Given the description of an element on the screen output the (x, y) to click on. 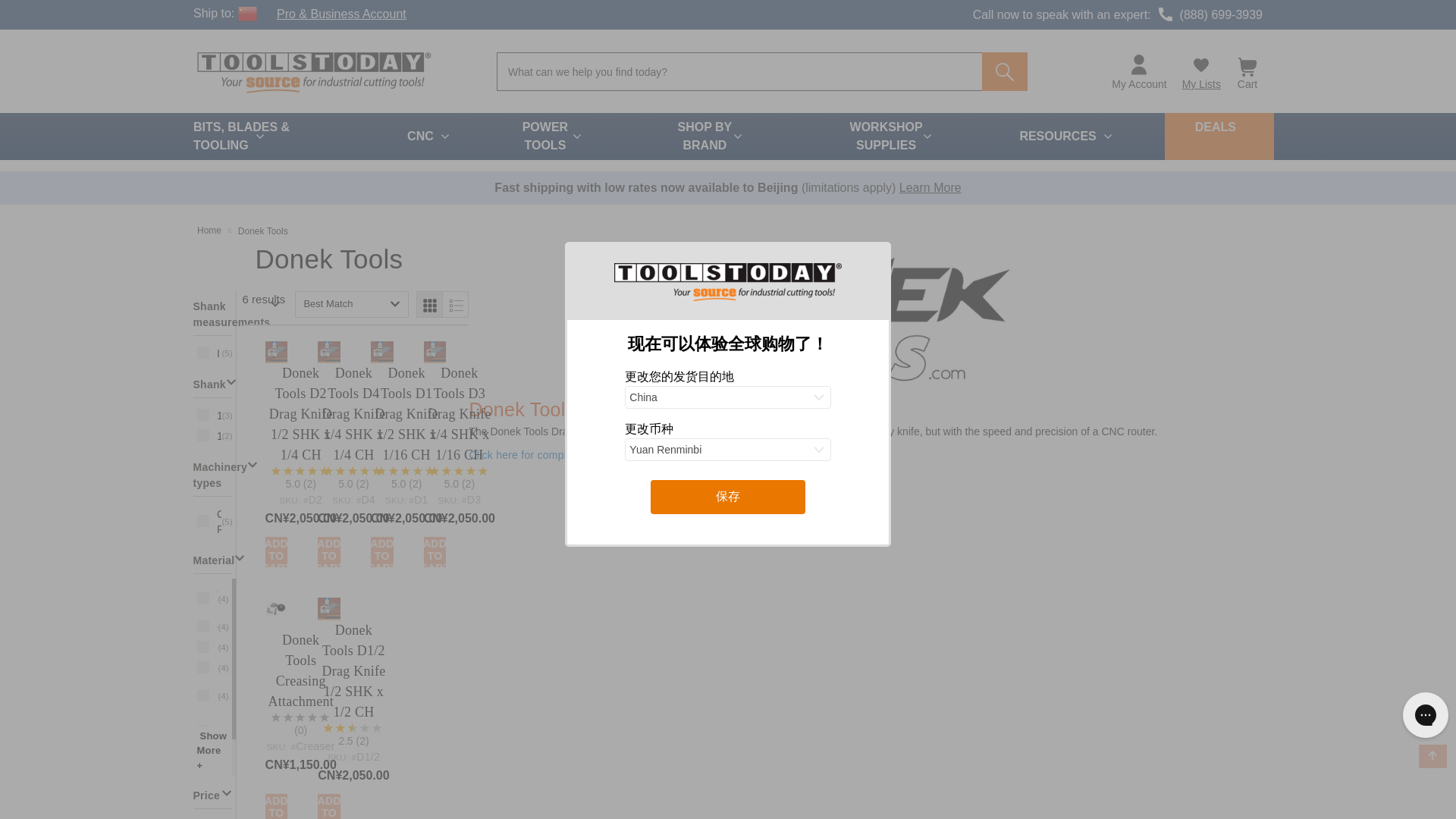
Wish list items (1201, 72)
My Account (1138, 73)
My Lists (1201, 72)
